Given the description of an element on the screen output the (x, y) to click on. 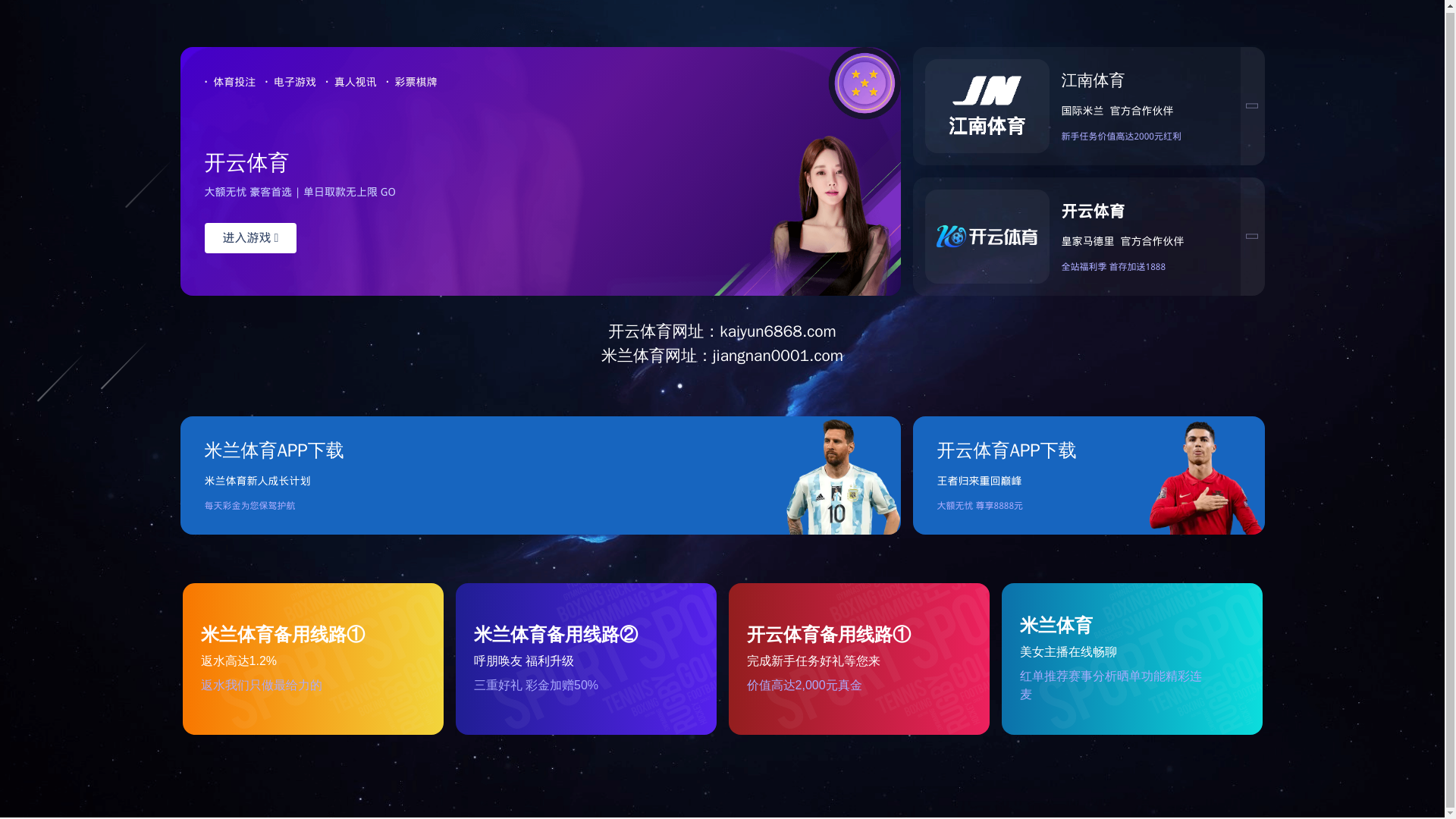
Contact Us (1075, 136)
Home (336, 136)
SEARCH (1146, 78)
Honor Customers (922, 136)
Suppliers (773, 136)
Products (645, 136)
Company Information (486, 136)
